Given the description of an element on the screen output the (x, y) to click on. 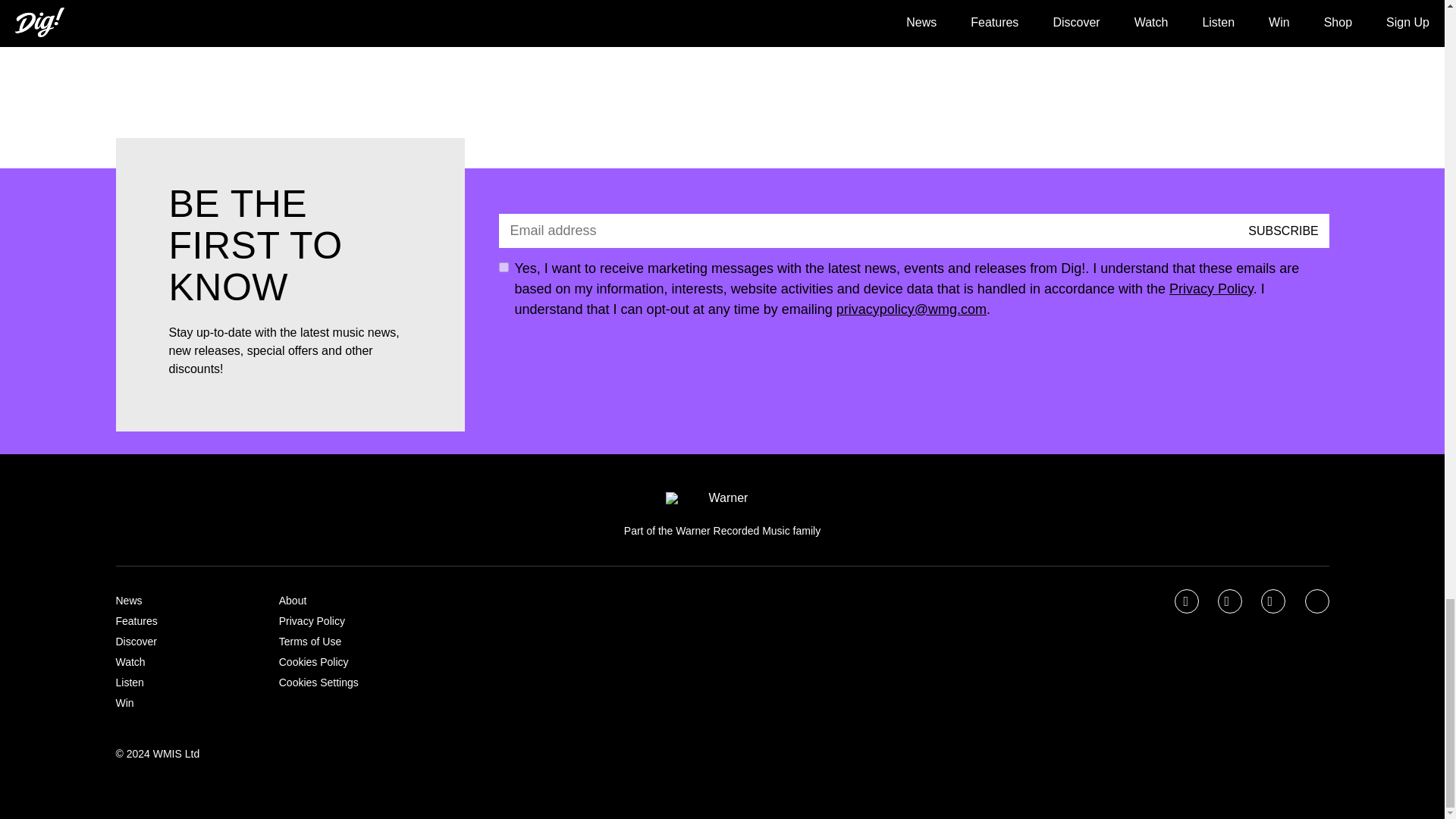
Subscribe (1282, 230)
YouTube (1318, 601)
agree (503, 266)
Instagram (1273, 601)
Twitter (1230, 601)
Facebook (1186, 601)
